Given the description of an element on the screen output the (x, y) to click on. 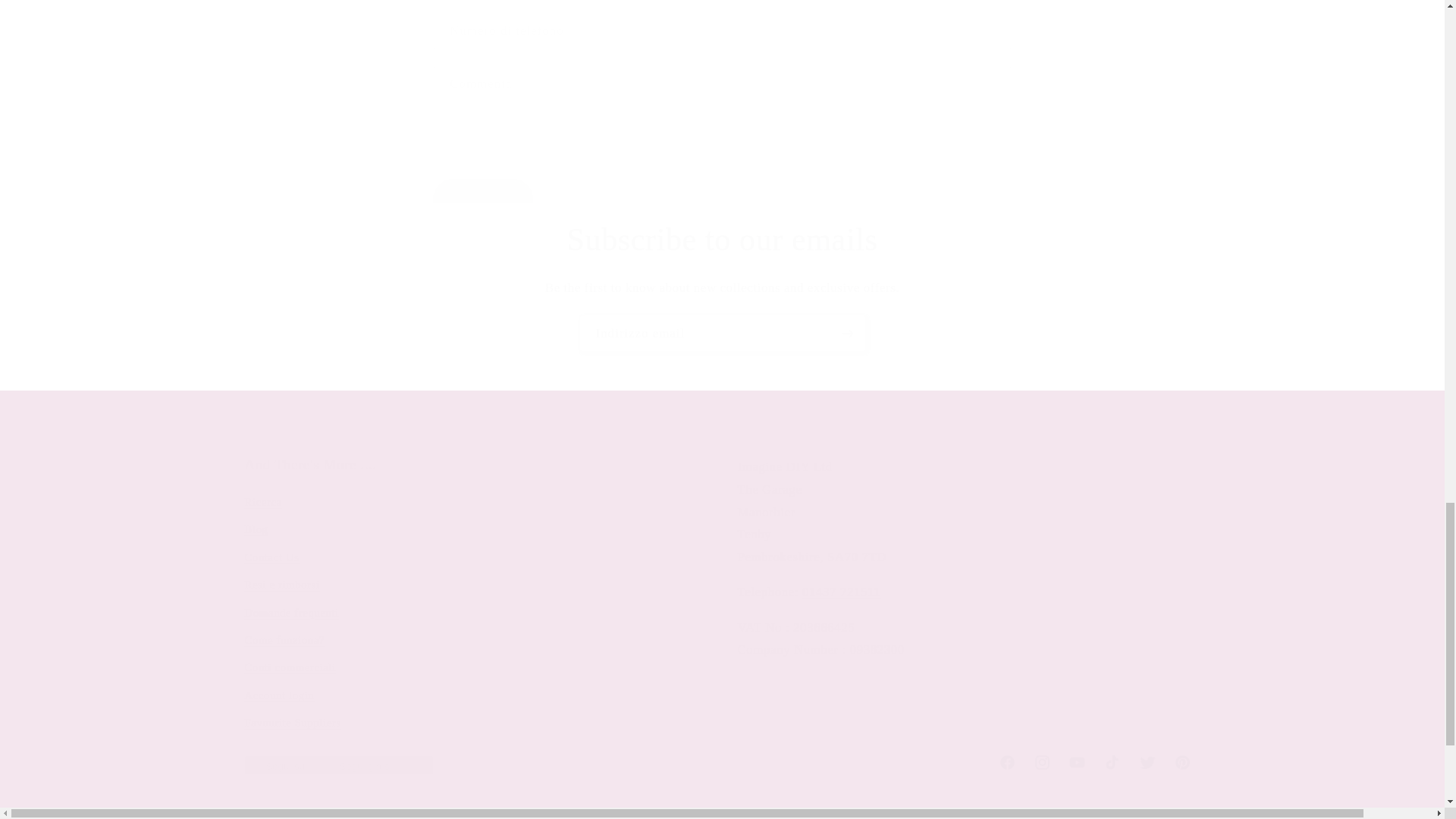
Indirizzo email (722, 333)
tel:01437 721511 (841, 591)
Subscribe to our emails (722, 240)
